Given the description of an element on the screen output the (x, y) to click on. 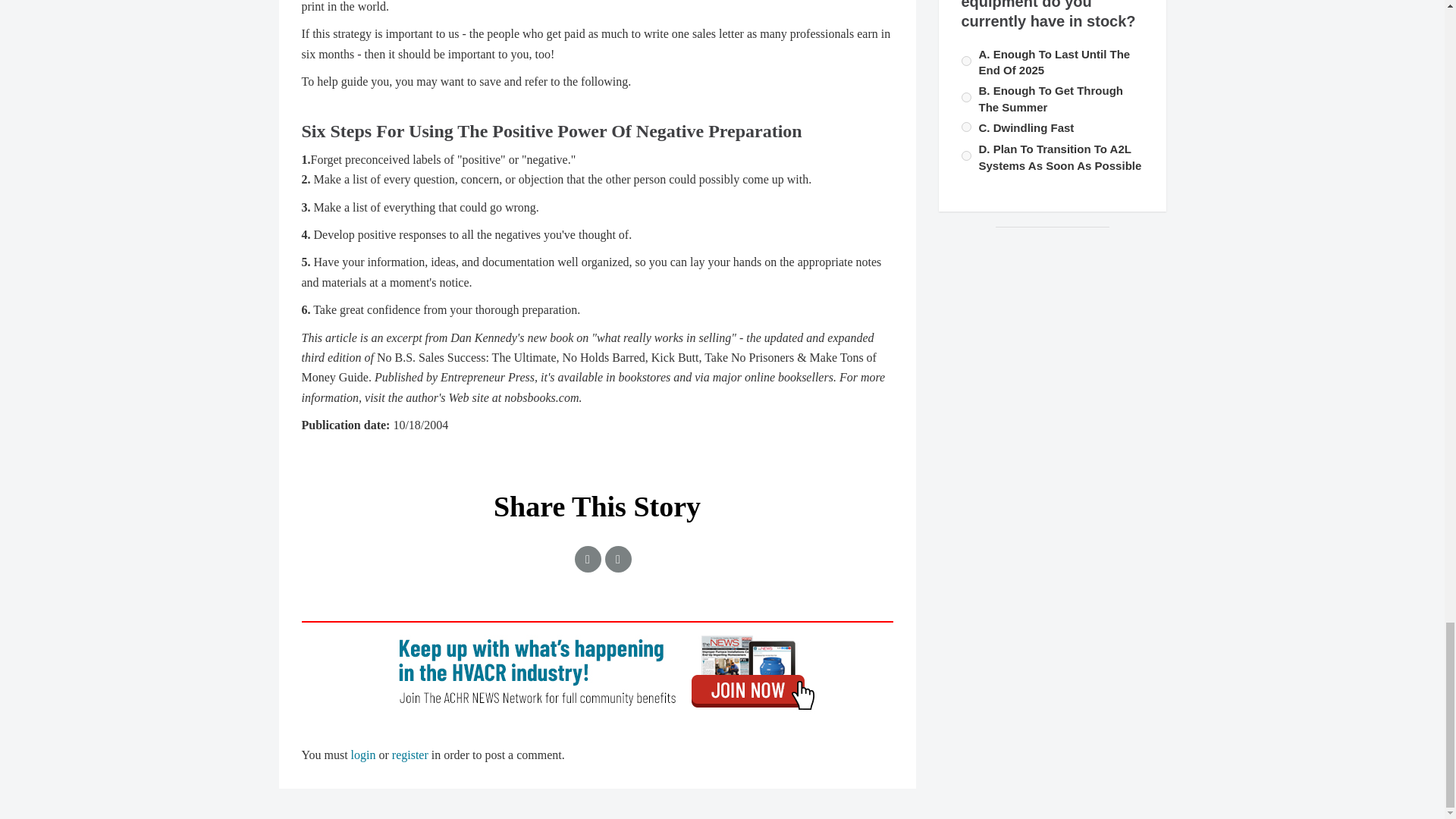
598 (965, 126)
597 (965, 61)
596 (965, 97)
599 (965, 155)
